Given the description of an element on the screen output the (x, y) to click on. 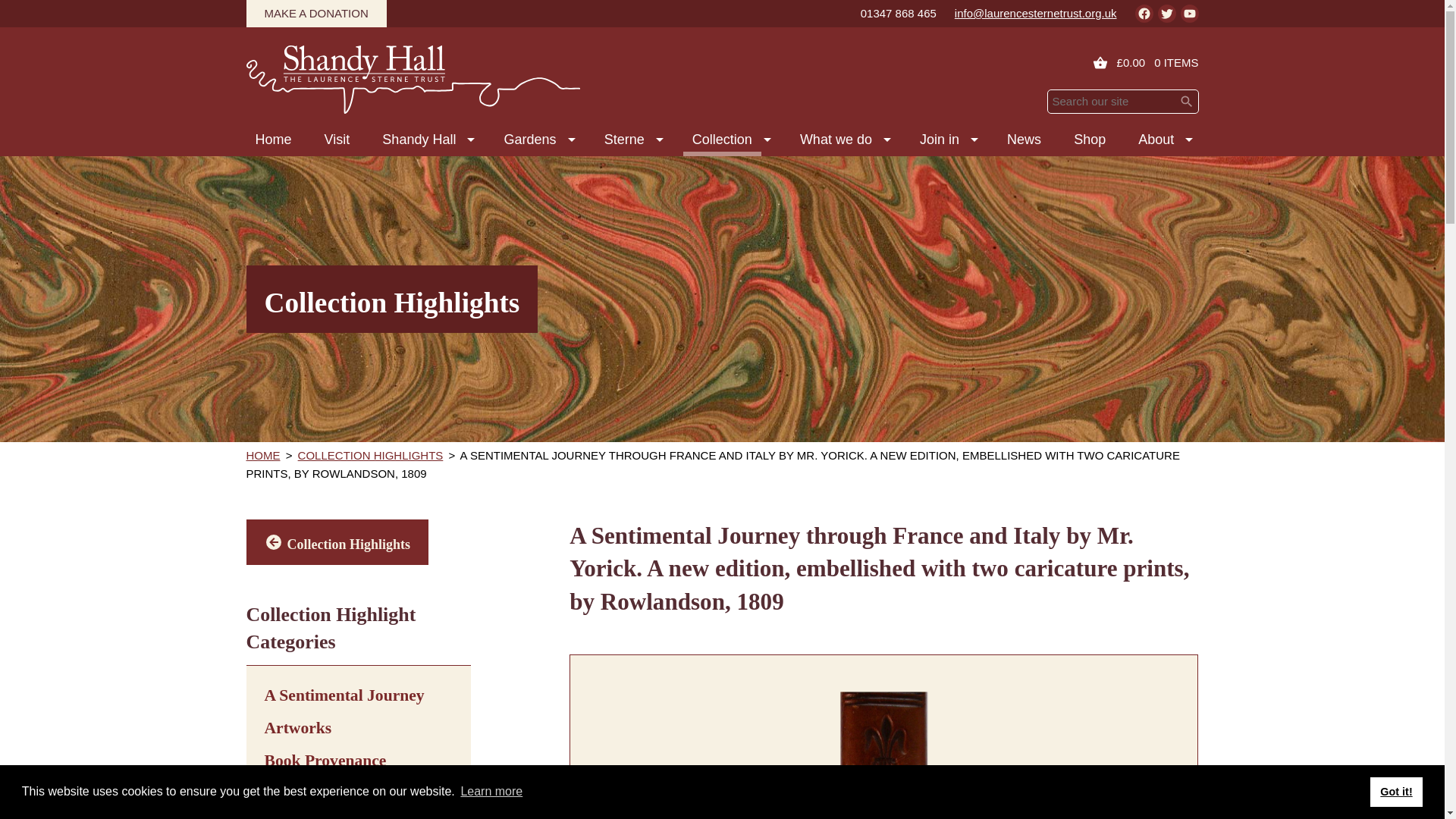
MAKE A DONATION (315, 13)
Shandy Hall (418, 139)
Collection (721, 139)
Facebook (1143, 13)
Sterne (624, 139)
Search (1186, 100)
Visit (337, 139)
YouTube (1188, 13)
What we do (835, 139)
Twitter (1165, 13)
Home (272, 139)
01347 868 465 (897, 13)
Gardens (529, 139)
